Given the description of an element on the screen output the (x, y) to click on. 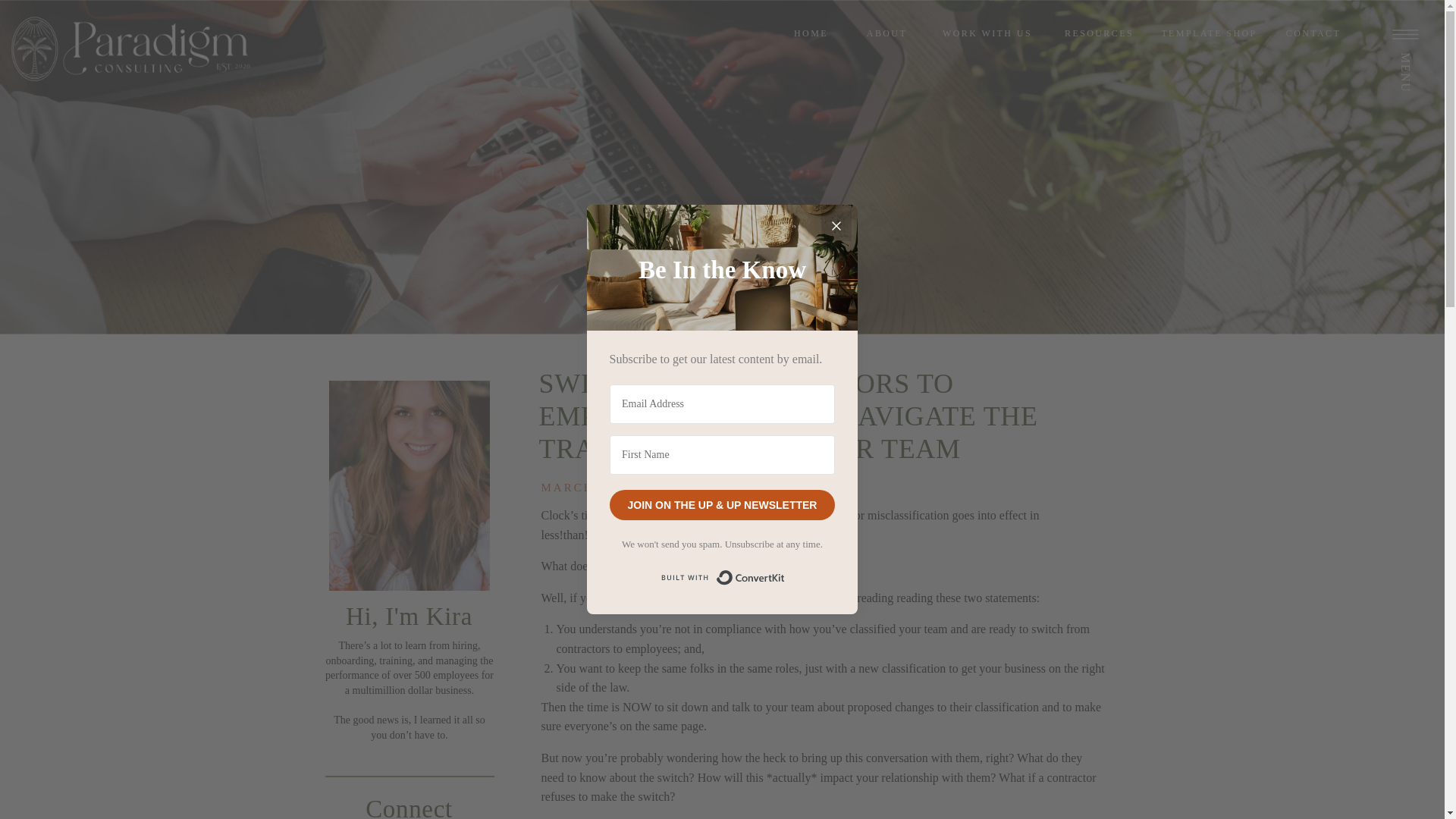
HOME (810, 35)
WORK WITH US (987, 35)
CONTACT (1312, 35)
TEMPLATE SHOP (1209, 35)
RESOURCES (1099, 35)
ABOUT (887, 35)
